Given the description of an element on the screen output the (x, y) to click on. 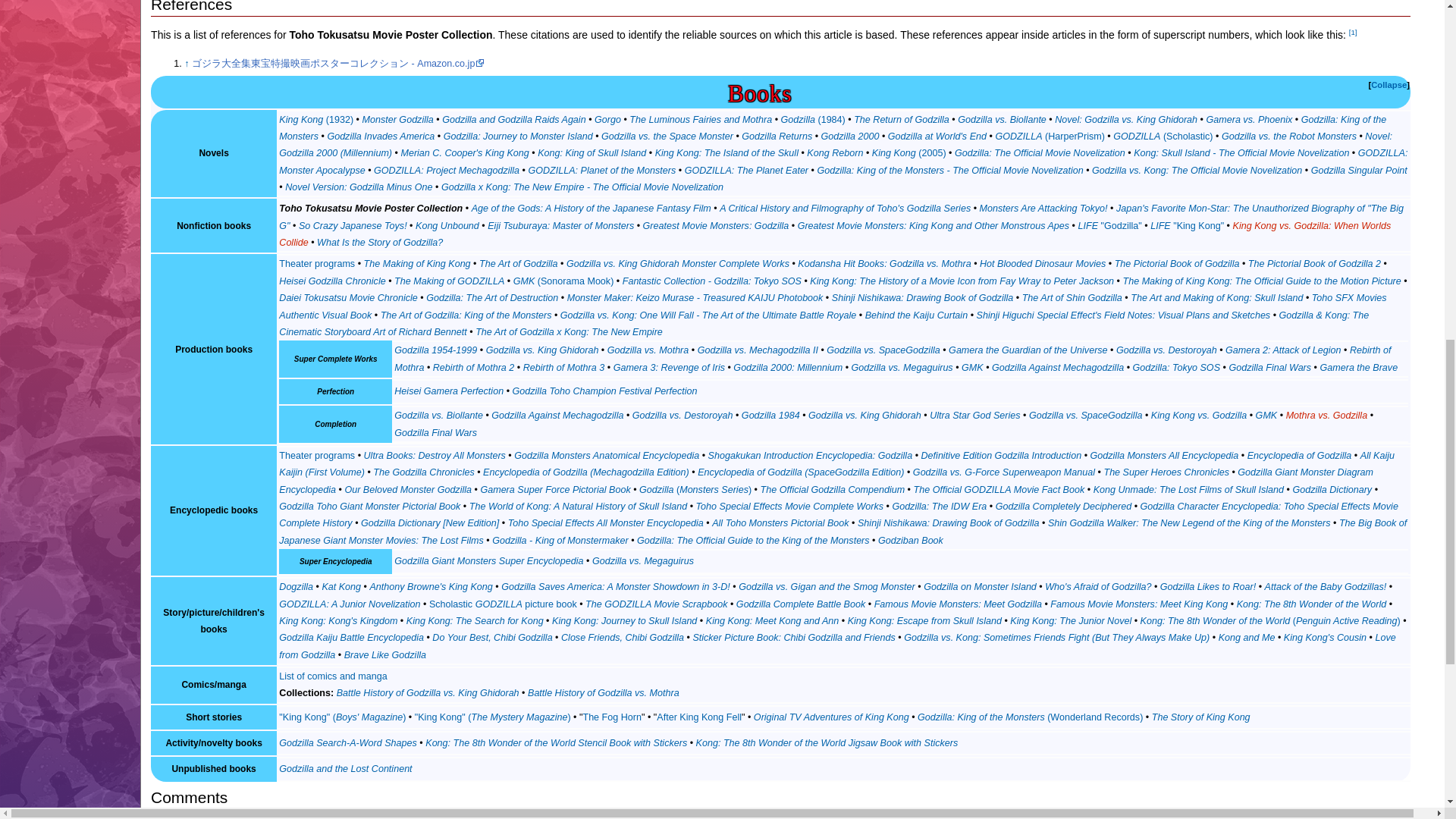
Godzilla: Journey to Monster Island (518, 136)
Godzilla vs. Biollante (1002, 119)
Books (780, 91)
Novel: Godzilla vs. King Ghidorah (1125, 119)
Godzilla and Godzilla Raids Again (513, 119)
Godzilla and Godzilla Raids Again (513, 119)
Category:Books (780, 91)
The Return of Godzilla (901, 119)
The Luminous Fairies and Mothra (699, 119)
The Luminous Fairies and Mothra (699, 119)
